Given the description of an element on the screen output the (x, y) to click on. 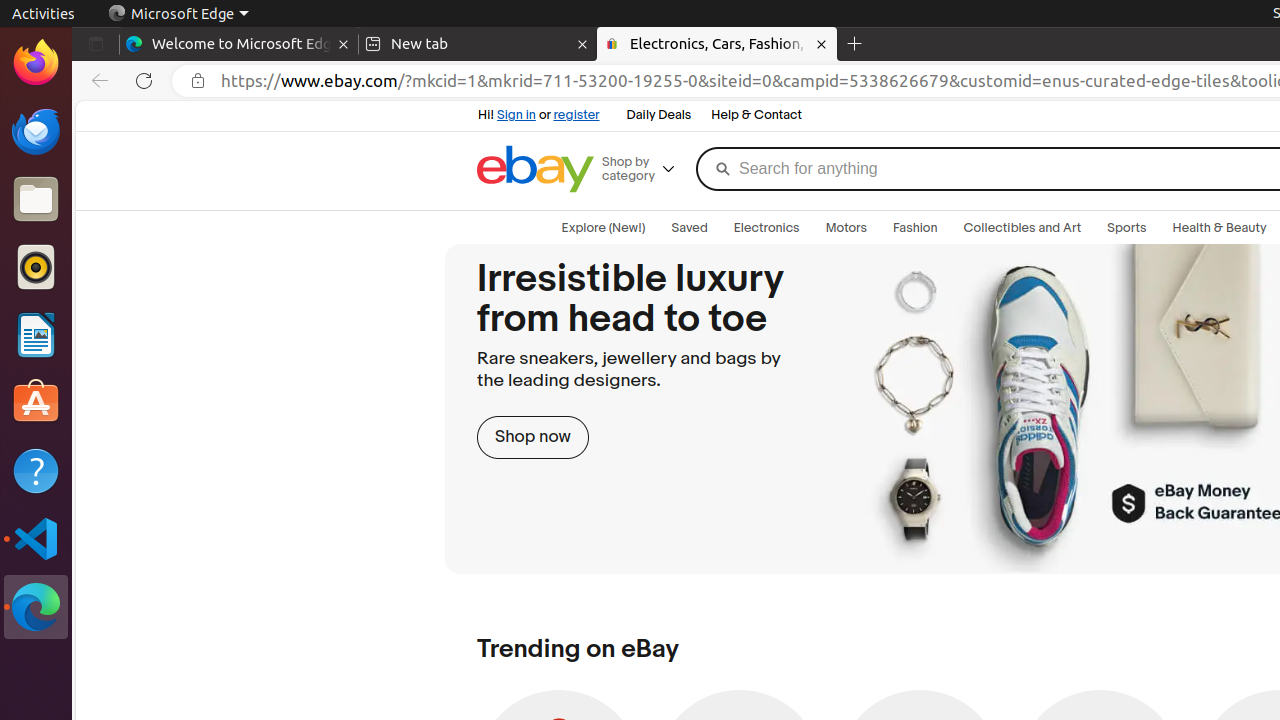
New tab Element type: page-tab (478, 44)
Close tab Element type: push-button (343, 44)
Explore (New!) Element type: link (603, 228)
Health & Beauty Element type: link (1219, 228)
LibreOffice Writer Element type: push-button (36, 334)
